Given the description of an element on the screen output the (x, y) to click on. 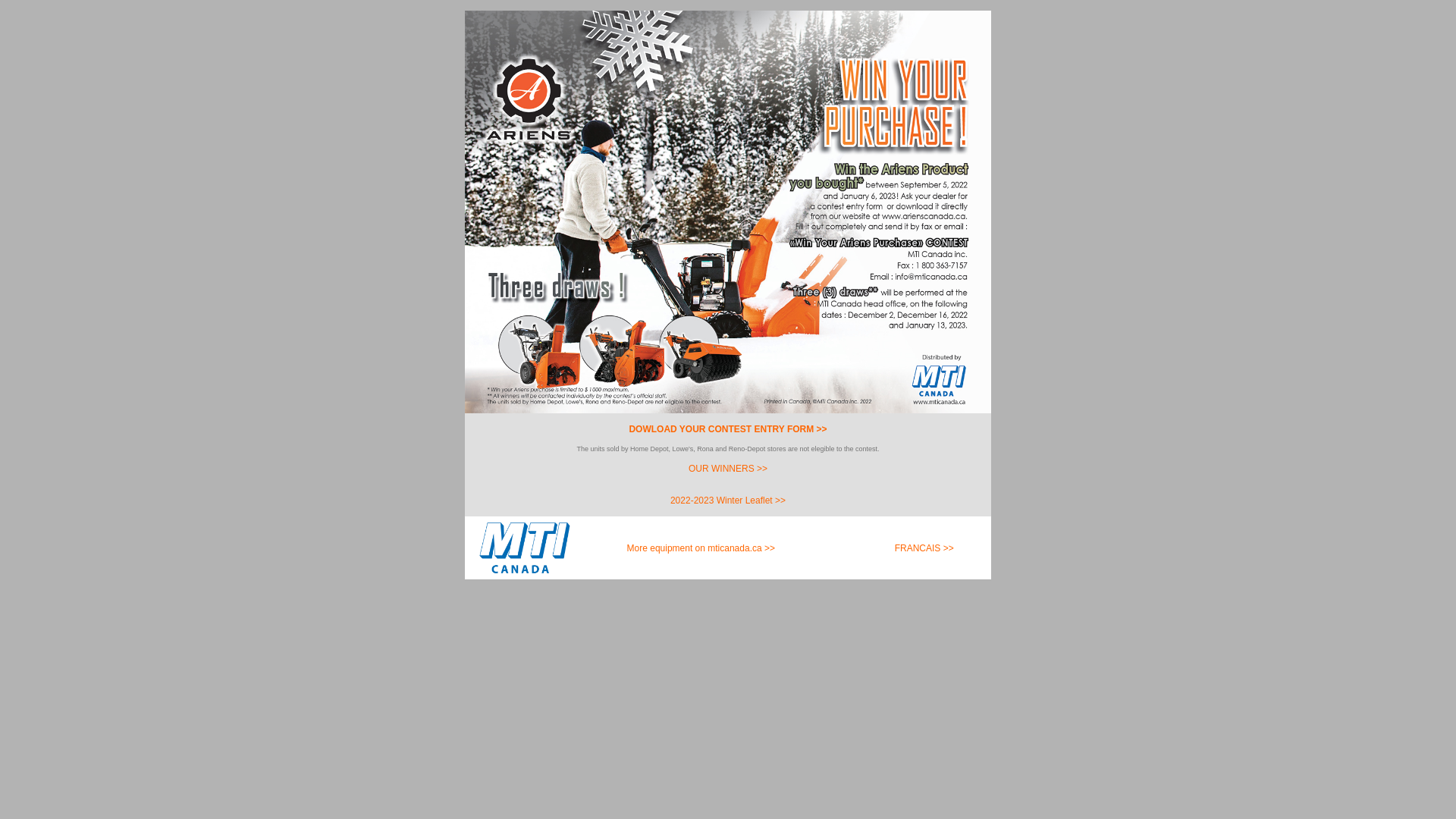
                FRANCAIS >> Element type: text (903, 547)
More equipment on mticanada.ca >> Element type: text (701, 547)
OUR WINNERS >> Element type: text (727, 468)
2022-2023 Winter Leaflet >> Element type: text (727, 505)
DOWLOAD YOUR CONTEST ENTRY FORM >> Element type: text (727, 434)
